Given the description of an element on the screen output the (x, y) to click on. 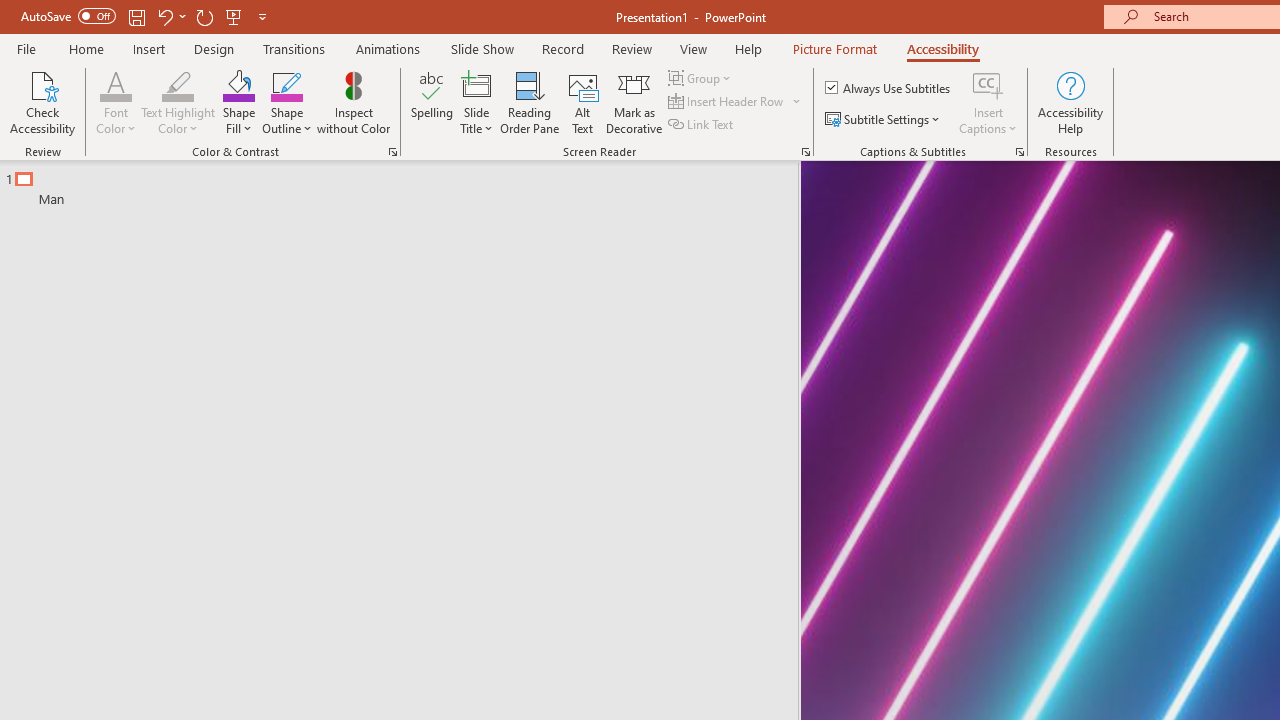
Accessibility Help (1070, 102)
Picture Format (834, 48)
Subtitle Settings (884, 119)
Accessibility (942, 48)
Shape Outline (286, 102)
Screen Reader (805, 151)
Insert Captions (988, 84)
